Given the description of an element on the screen output the (x, y) to click on. 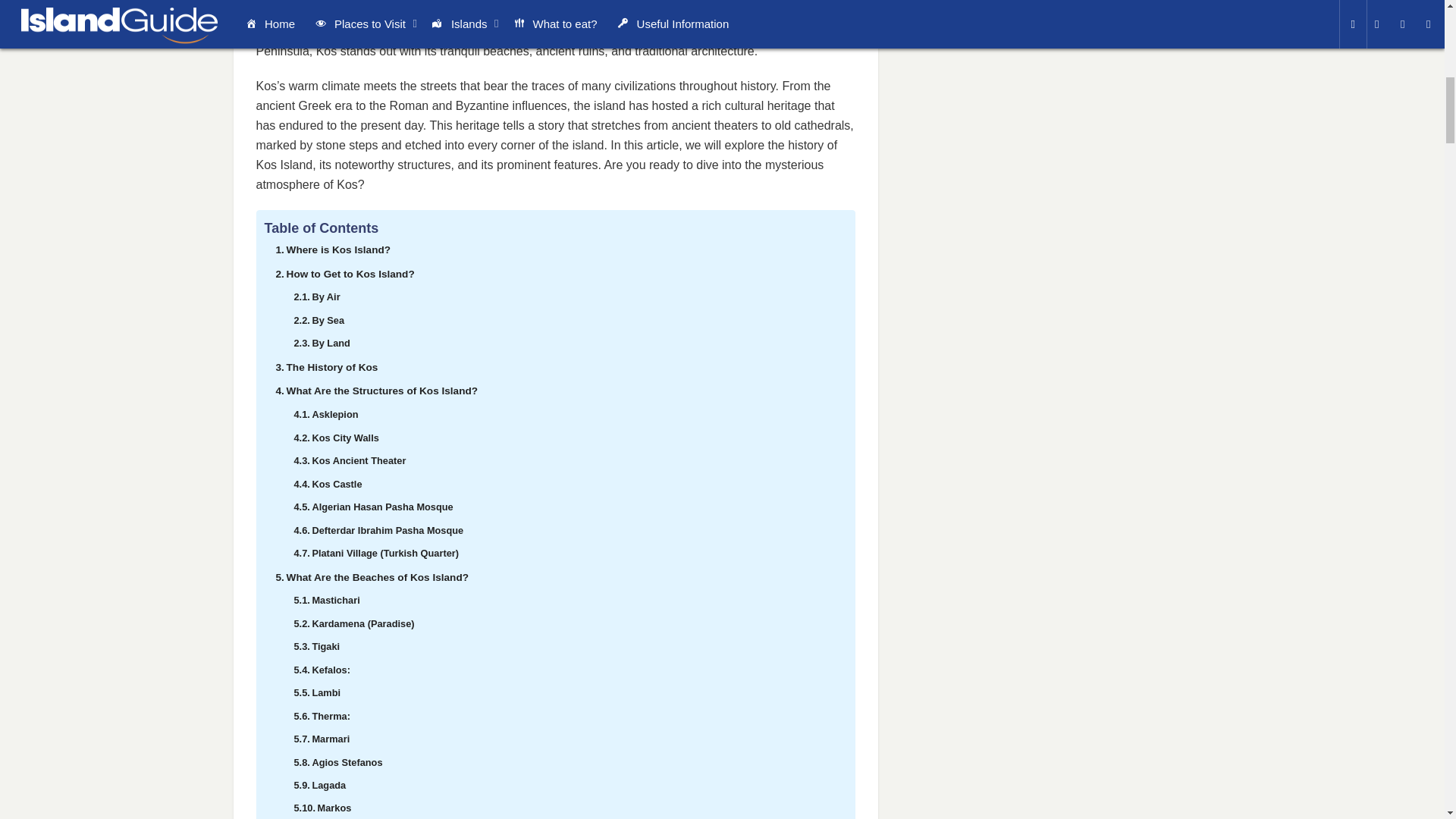
How to Get to Kos Island? (344, 274)
By Air (316, 296)
How to Get to Kos Island? (344, 274)
By Air (316, 296)
Where is Kos Island? (332, 250)
Where is Kos Island? (332, 250)
By Sea (318, 320)
